Given the description of an element on the screen output the (x, y) to click on. 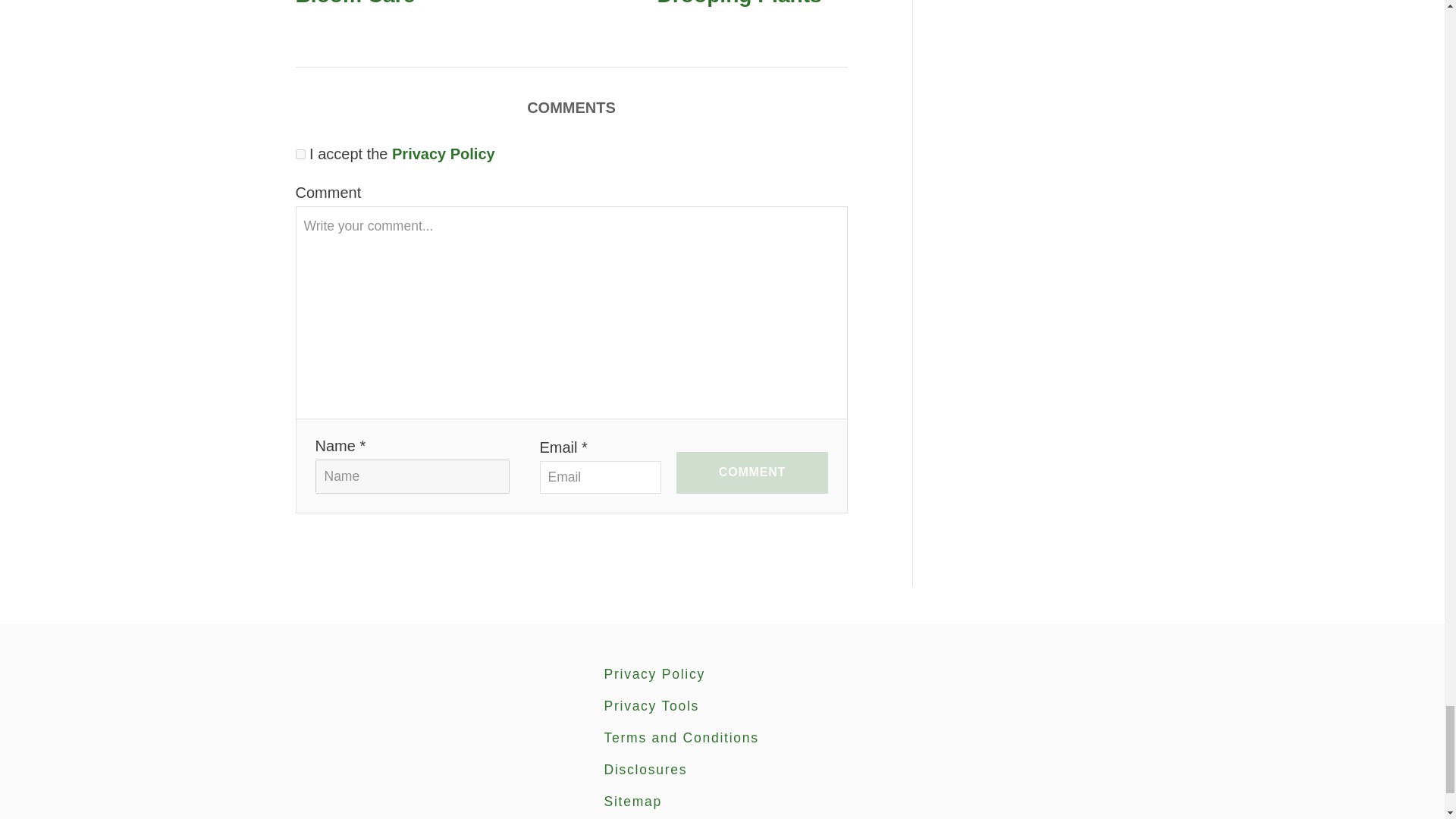
1 (300, 153)
